Given the description of an element on the screen output the (x, y) to click on. 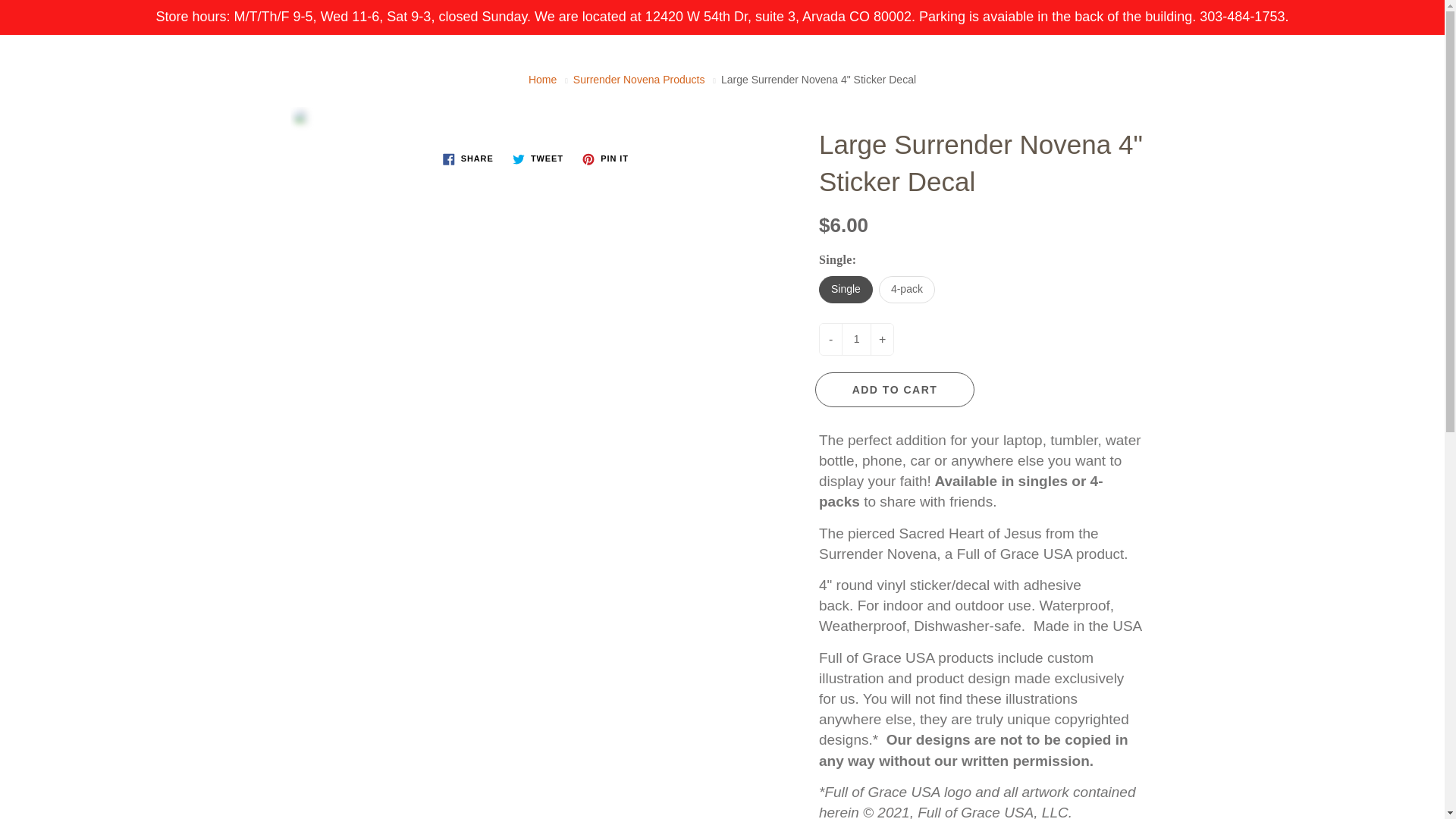
SHOP WHOLESALE FOR THE RETRO (810, 116)
ALL COLLECTIONS (582, 116)
Pin on Pinterest (604, 158)
Large Surrender Novena 4 (537, 116)
Share on Facebook (467, 158)
You have 0 items in your cart (1417, 60)
Tweet on Twitter (537, 158)
My account (1379, 60)
1 (855, 338)
Home (542, 79)
